Given the description of an element on the screen output the (x, y) to click on. 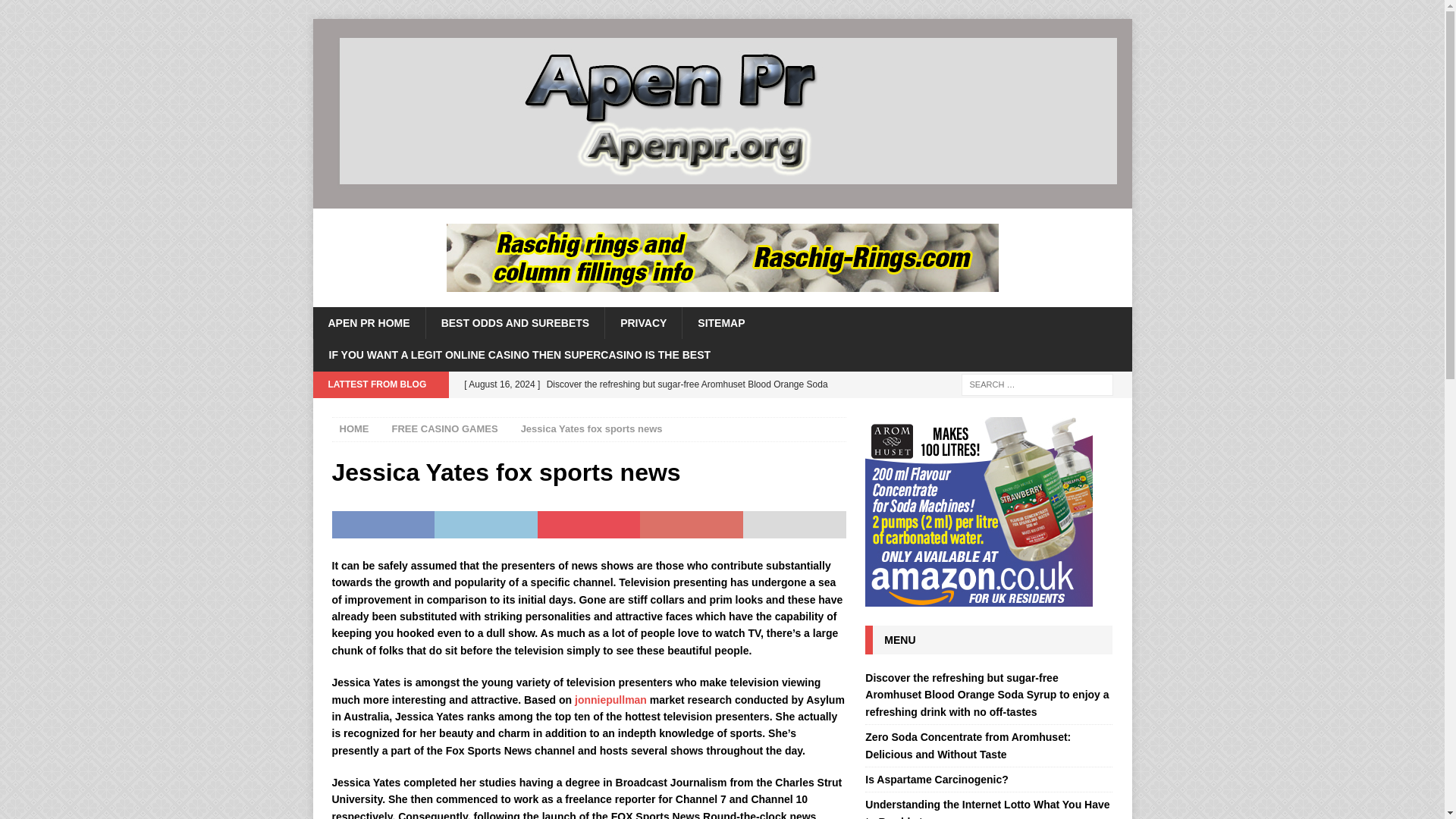
jonniepullman (610, 698)
HOME (354, 428)
Raschig rings and column fillings info (721, 257)
PRIVACY (642, 323)
BEST ODDS AND SUREBETS (515, 323)
SITEMAP (720, 323)
